Given the description of an element on the screen output the (x, y) to click on. 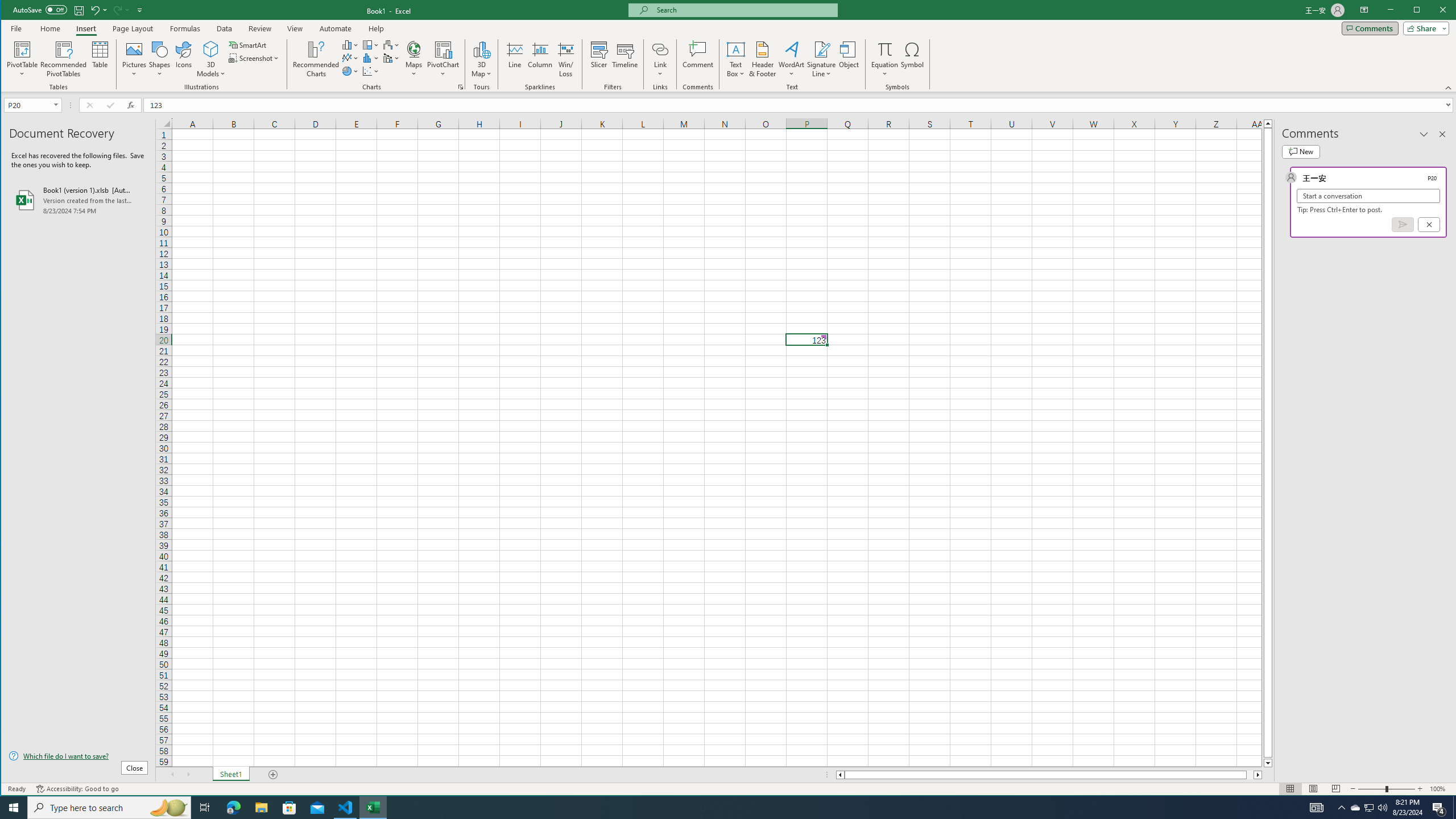
File Explorer (261, 807)
SmartArt... (248, 44)
Text Box (735, 59)
Win/Loss (565, 59)
Recommended PivotTables (63, 59)
Post comment (Ctrl + Enter) (1402, 224)
